Given the description of an element on the screen output the (x, y) to click on. 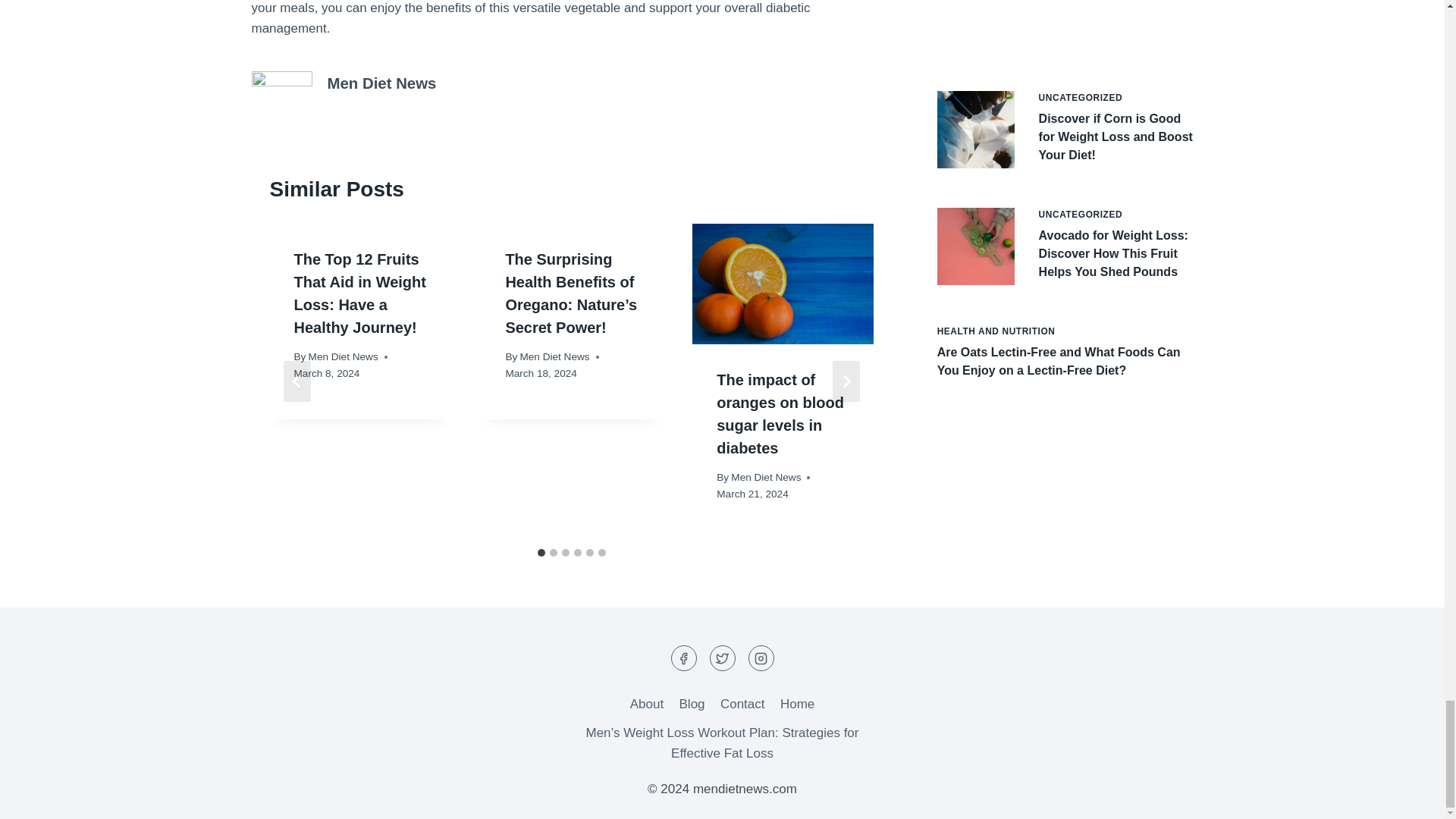
Men Diet News (765, 477)
The impact of oranges on blood sugar levels in diabetes  (780, 413)
Men Diet News (554, 356)
Men Diet News (381, 83)
Posts by Men Diet News (381, 83)
Men Diet News (343, 356)
